Given the description of an element on the screen output the (x, y) to click on. 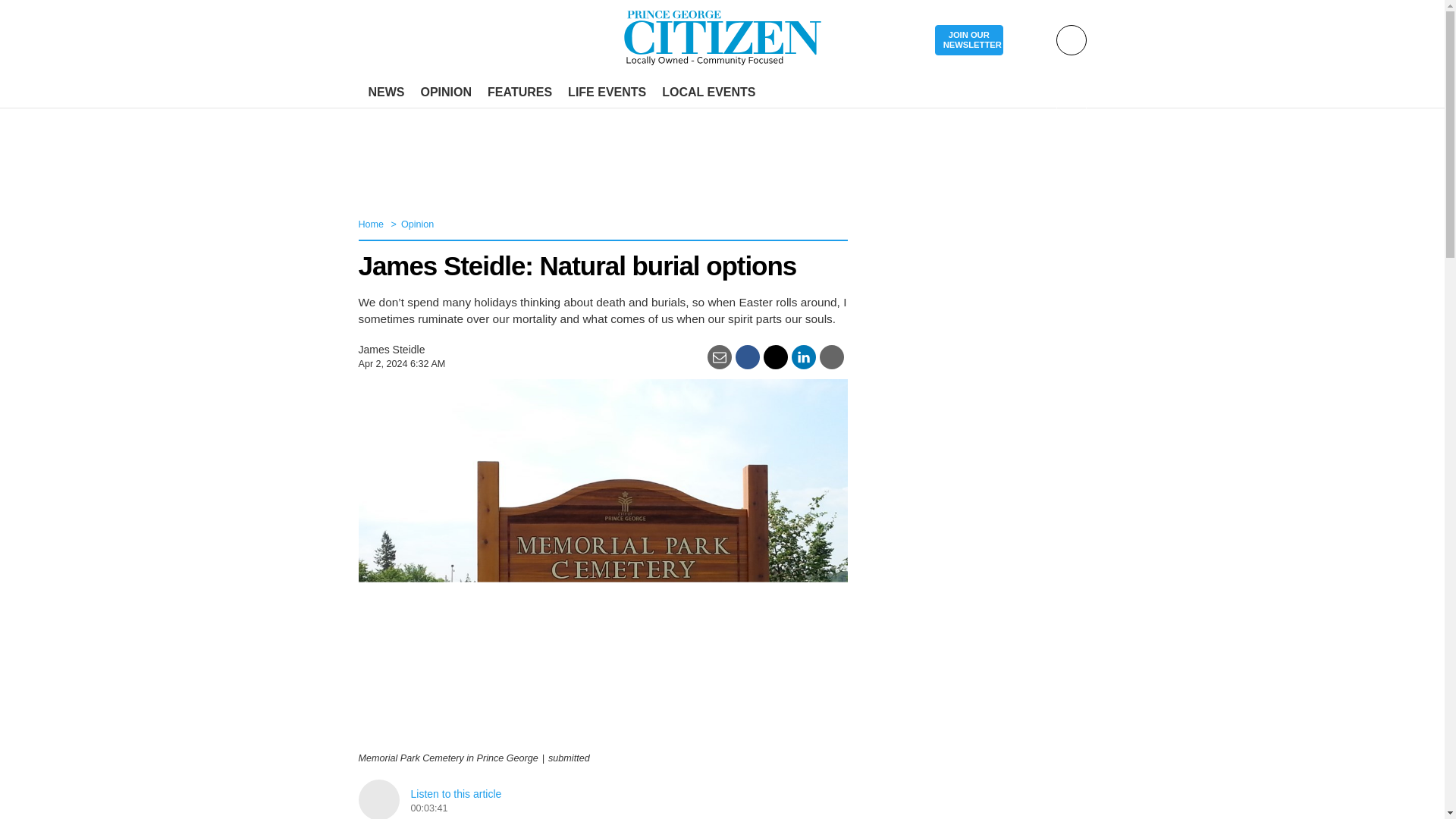
NEWS (386, 92)
JOIN OUR NEWSLETTER (968, 40)
OPINION (445, 92)
